Given the description of an element on the screen output the (x, y) to click on. 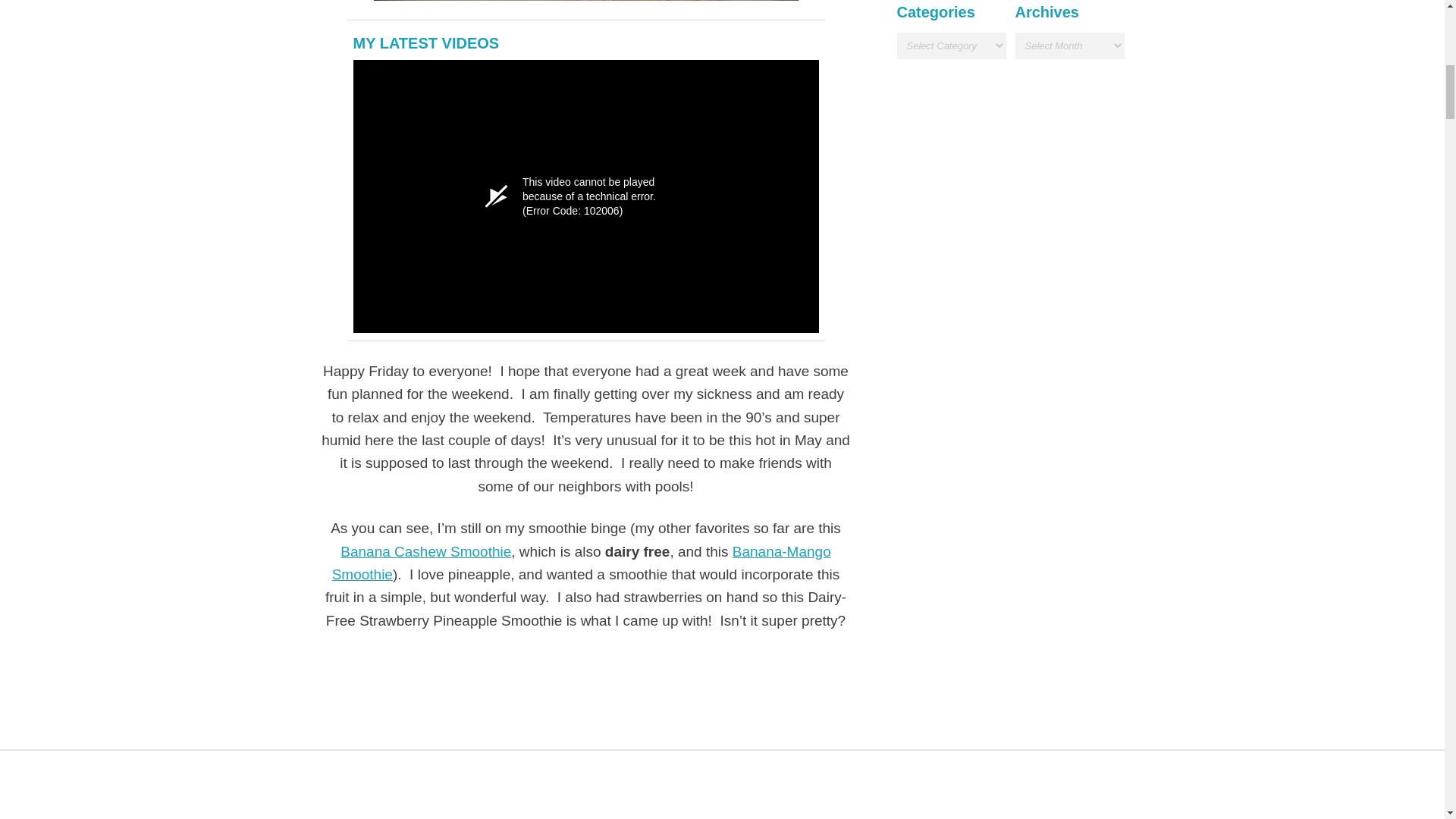
Banana Cashew Smoothie (425, 550)
Banana-Mango Smoothie (581, 561)
